Given the description of an element on the screen output the (x, y) to click on. 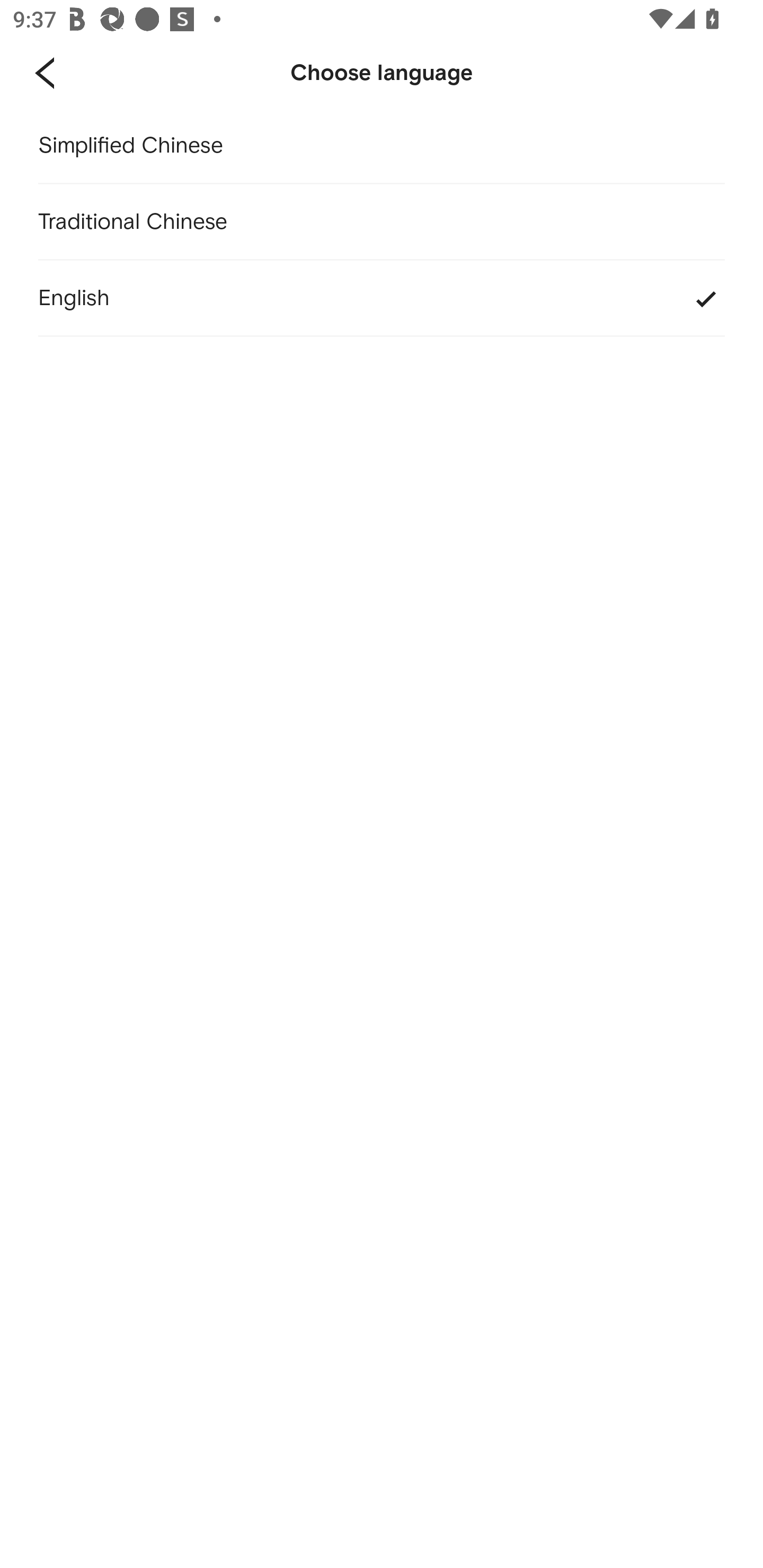
Simplified Chinese (381, 146)
Traditional Chinese (381, 222)
English (381, 298)
